Given the description of an element on the screen output the (x, y) to click on. 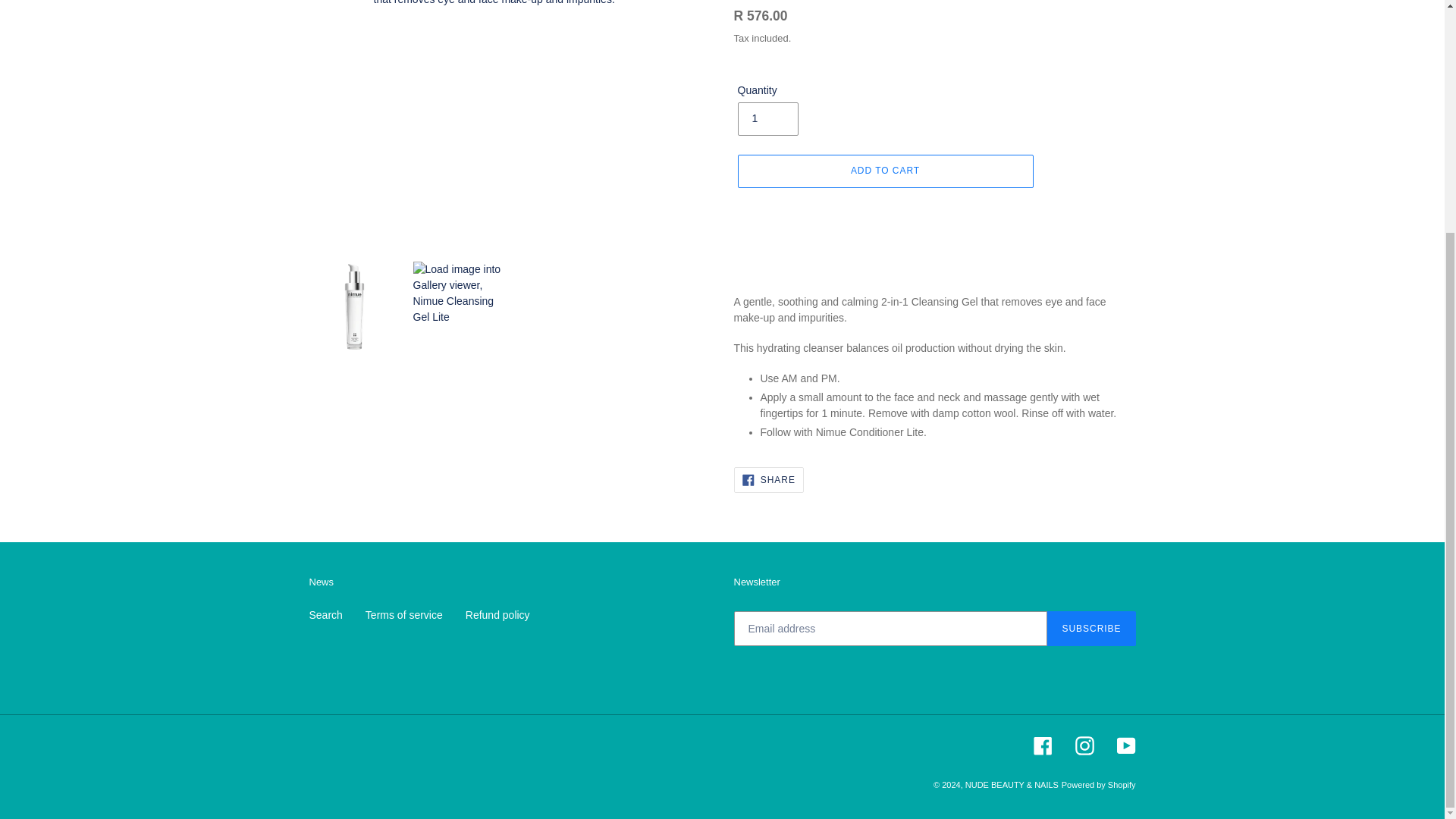
1 (766, 118)
